Given the description of an element on the screen output the (x, y) to click on. 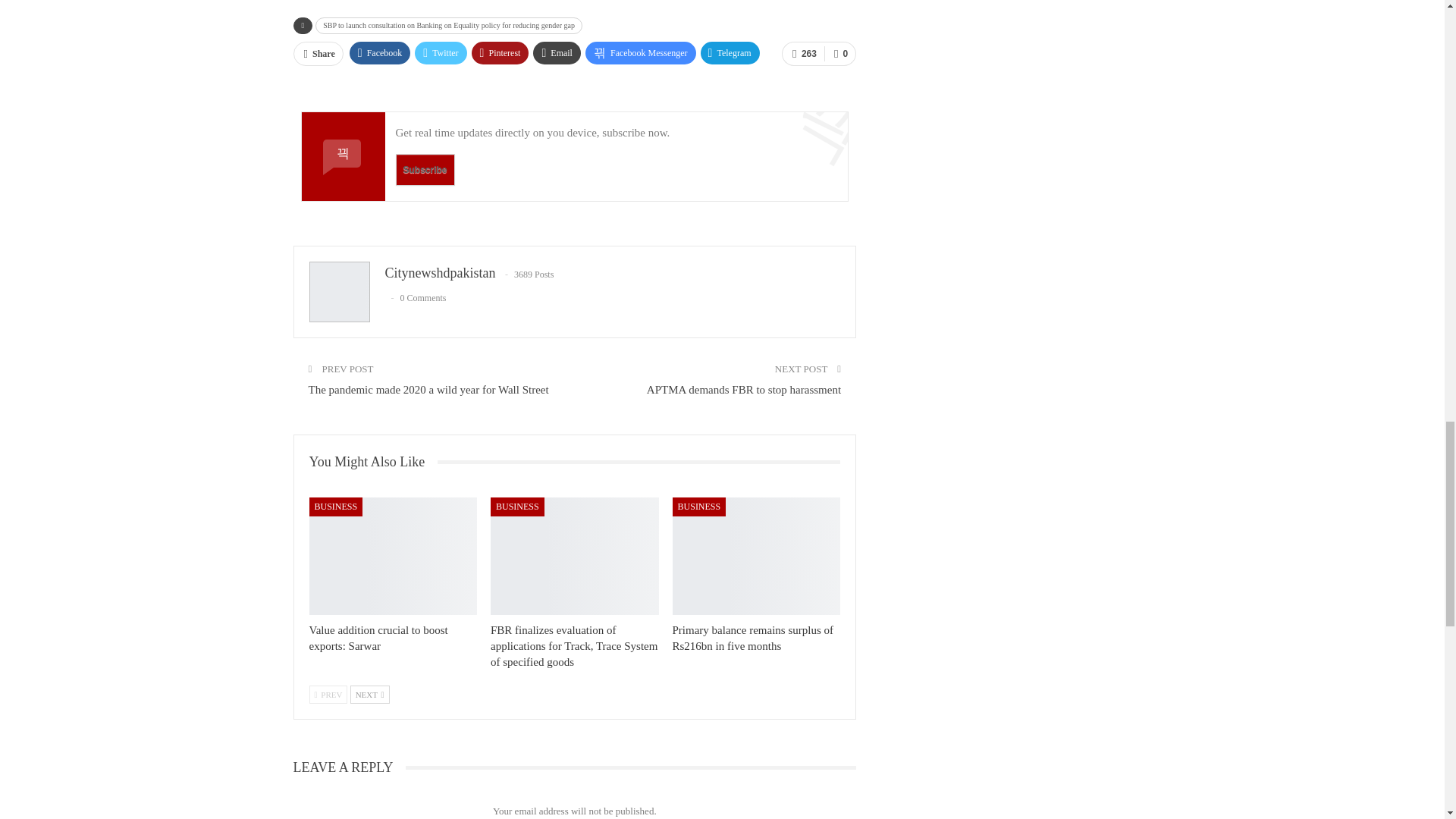
Primary balance remains surplus of Rs216bn in five months (756, 556)
Value addition crucial to boost exports: Sarwar (378, 637)
Primary balance remains surplus of Rs216bn in five months (752, 637)
0 (840, 53)
Twitter (439, 52)
Value addition crucial to boost exports: Sarwar (392, 556)
Facebook (379, 52)
Previous (327, 694)
